Given the description of an element on the screen output the (x, y) to click on. 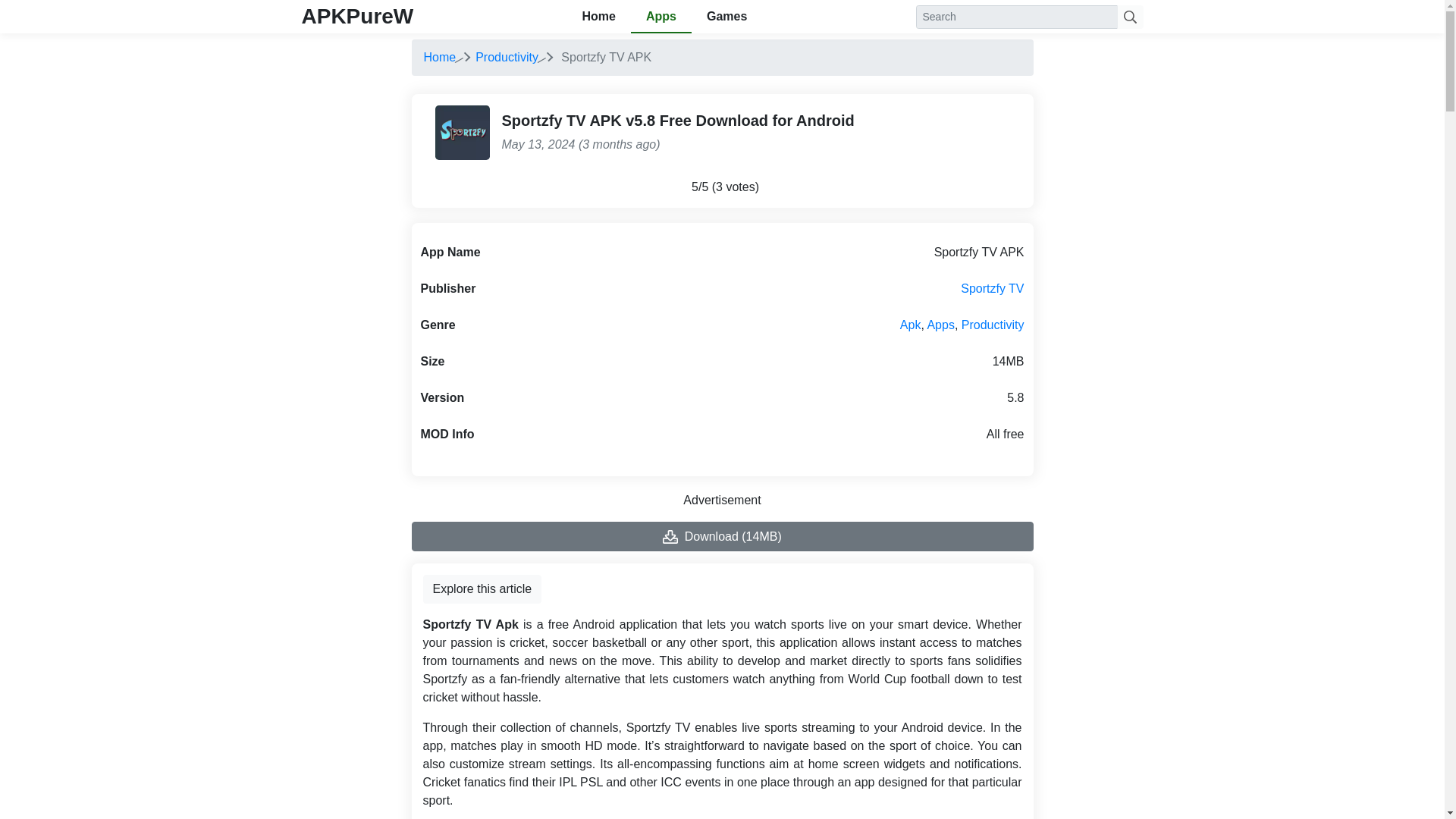
Games (726, 16)
Apk (910, 324)
APKPureW (357, 15)
Productivity (507, 56)
Home (439, 56)
Productivity (992, 324)
Home (439, 56)
Explore this article (482, 588)
Apps (939, 324)
